Given the description of an element on the screen output the (x, y) to click on. 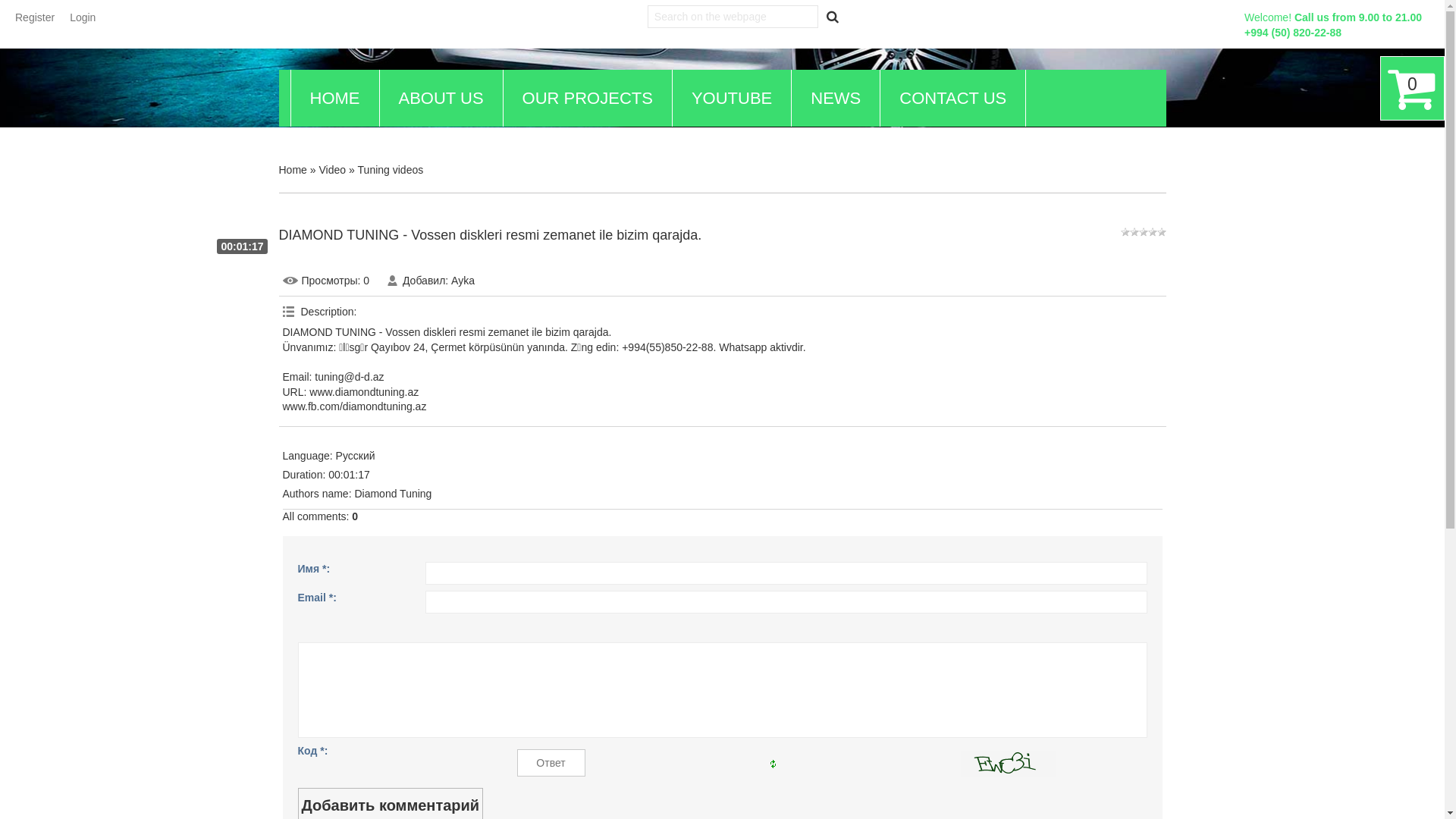
ABOUT US Element type: text (440, 97)
Register Element type: text (34, 17)
OUR PROJECTS Element type: text (587, 97)
Home Element type: text (293, 169)
HOME Element type: text (335, 97)
Tuning videos Element type: text (390, 169)
Login Element type: text (82, 17)
YOUTUBE Element type: text (731, 97)
Video Element type: text (331, 169)
CONTACT US Element type: text (952, 97)
NEWS Element type: text (835, 97)
Ayka Element type: text (462, 280)
